Given the description of an element on the screen output the (x, y) to click on. 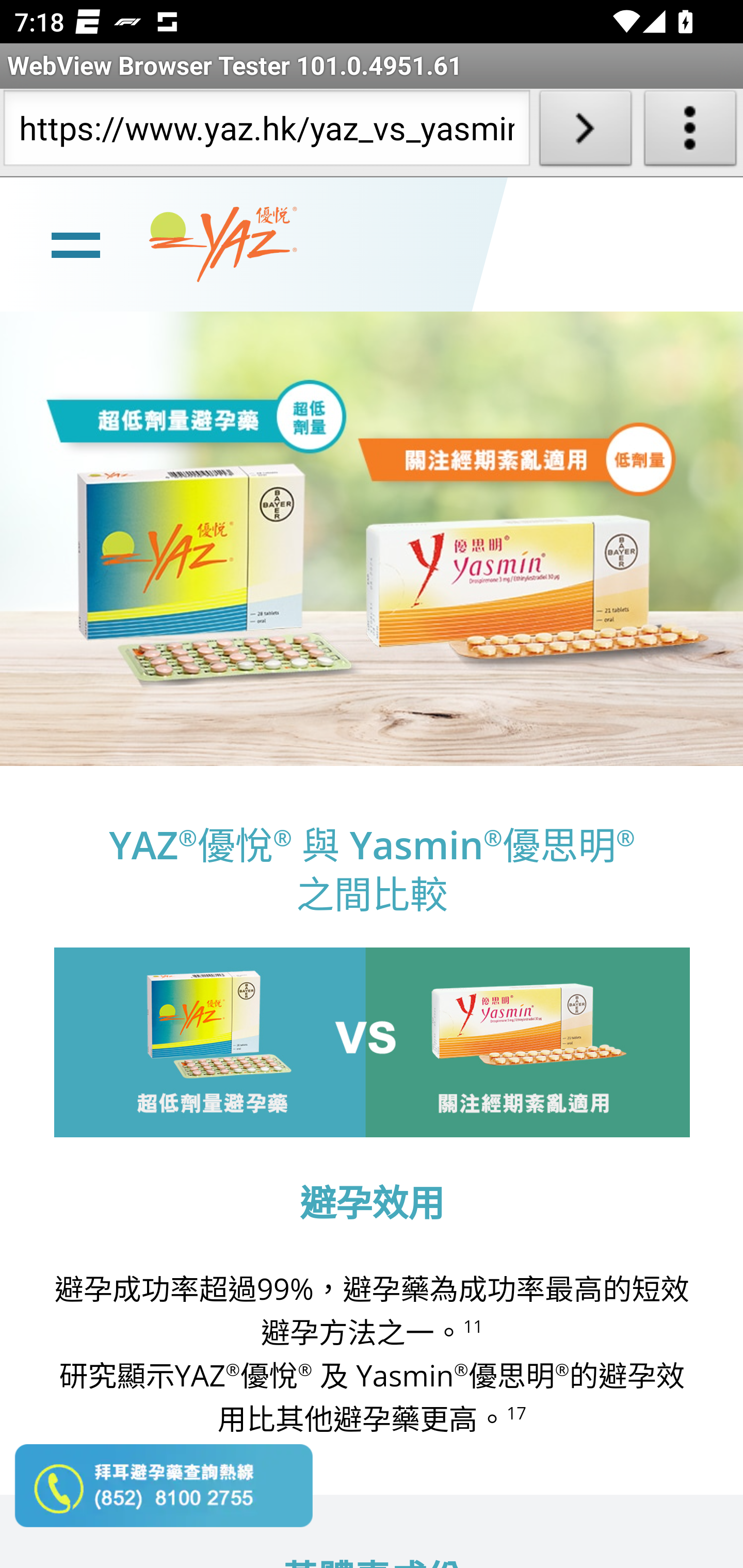
Load URL (585, 132)
About WebView (690, 132)
www.yaz (222, 244)
line Toggle burger menu (75, 242)
